Given the description of an element on the screen output the (x, y) to click on. 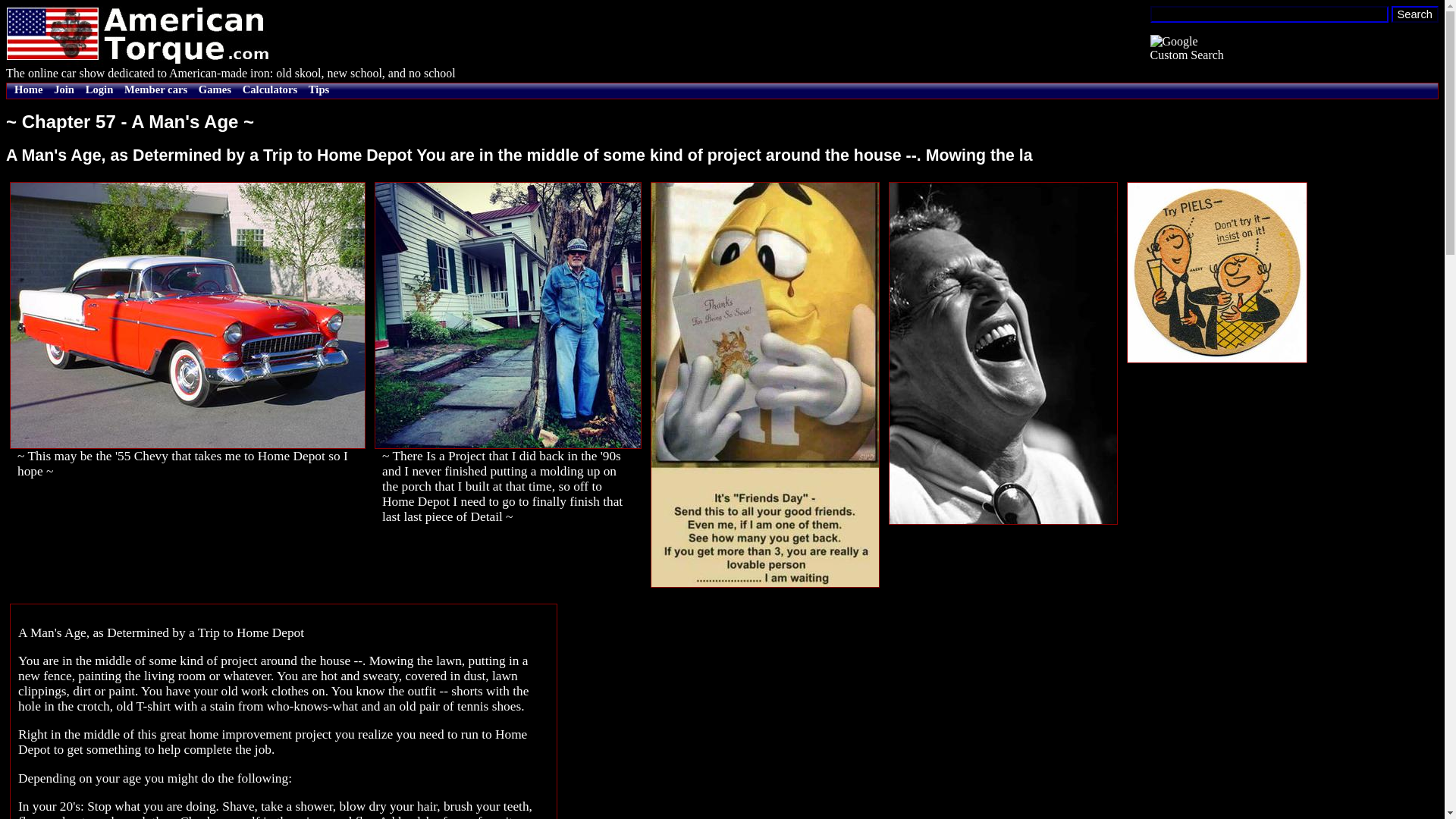
Calculators (266, 89)
Games (210, 89)
Home (25, 89)
Search (1414, 13)
Tips (315, 89)
click for bigger photo (508, 314)
Search (1414, 13)
Join (60, 89)
bigger photo not available (1216, 272)
bigger photo not available (187, 314)
Login (96, 89)
Member cars (151, 89)
